Given the description of an element on the screen output the (x, y) to click on. 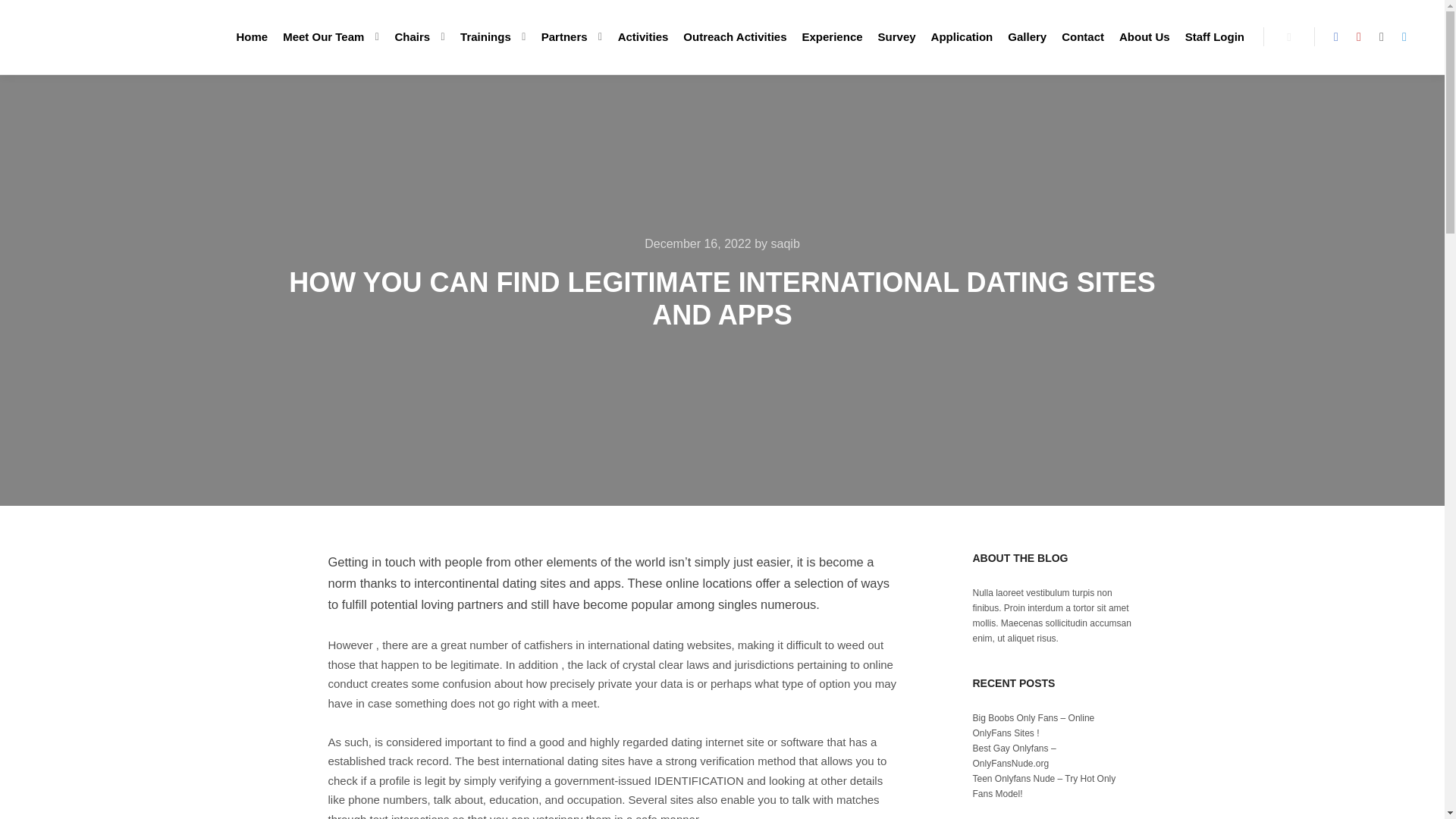
View all posts by saqib (785, 243)
E-mail (1381, 36)
Contact (1083, 35)
Application (962, 35)
Facebook (1335, 36)
About Us (1144, 35)
Trainings (482, 35)
Experience (832, 35)
YouTube (1358, 36)
Activities (643, 35)
